Given the description of an element on the screen output the (x, y) to click on. 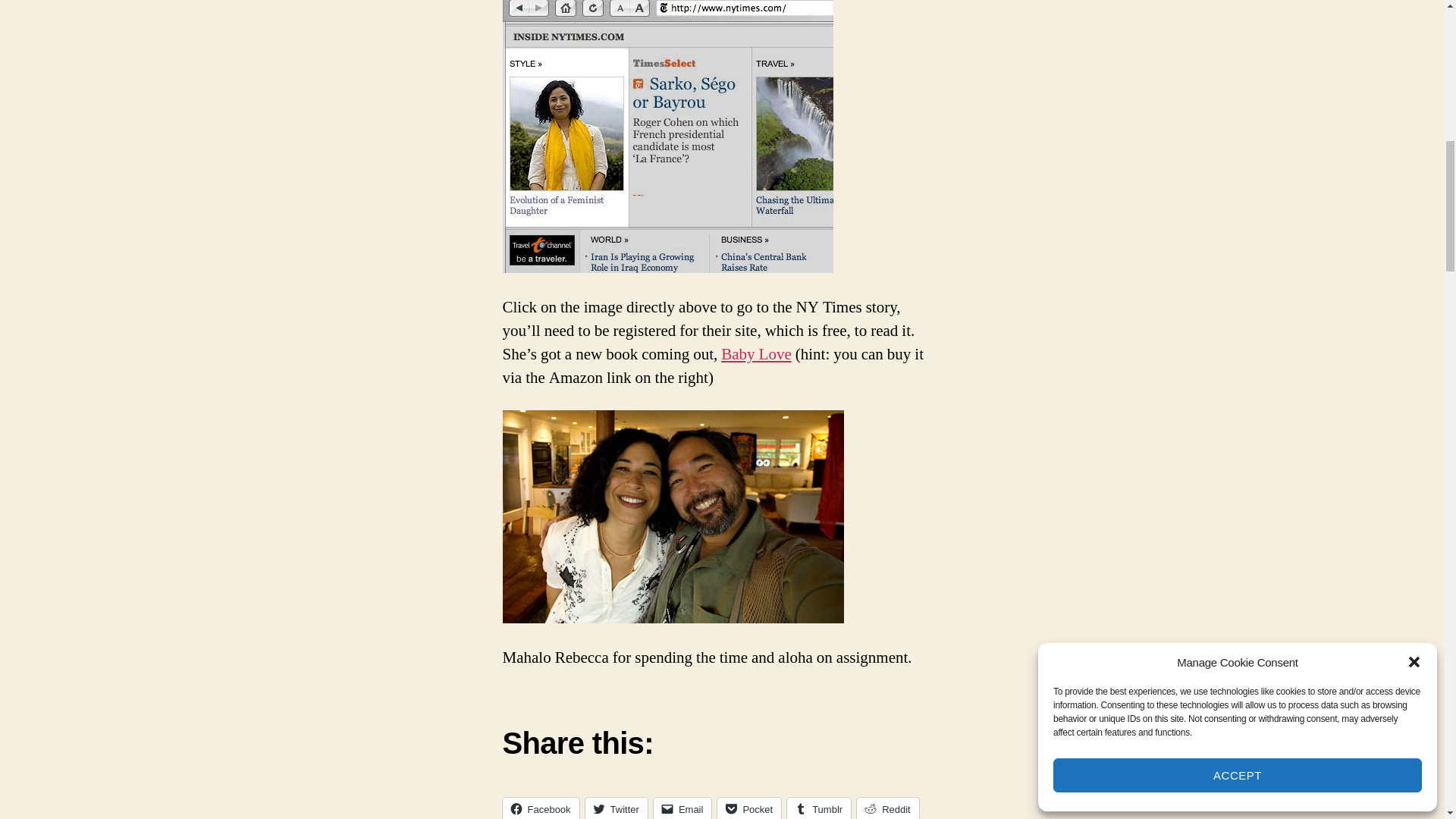
Click to share on Facebook (540, 808)
Click to share on Reddit (887, 808)
Click to share on Tumblr (818, 808)
Click to share on Twitter (616, 808)
Click to share on Pocket (748, 808)
Click to email a link to a friend (682, 808)
